Given the description of an element on the screen output the (x, y) to click on. 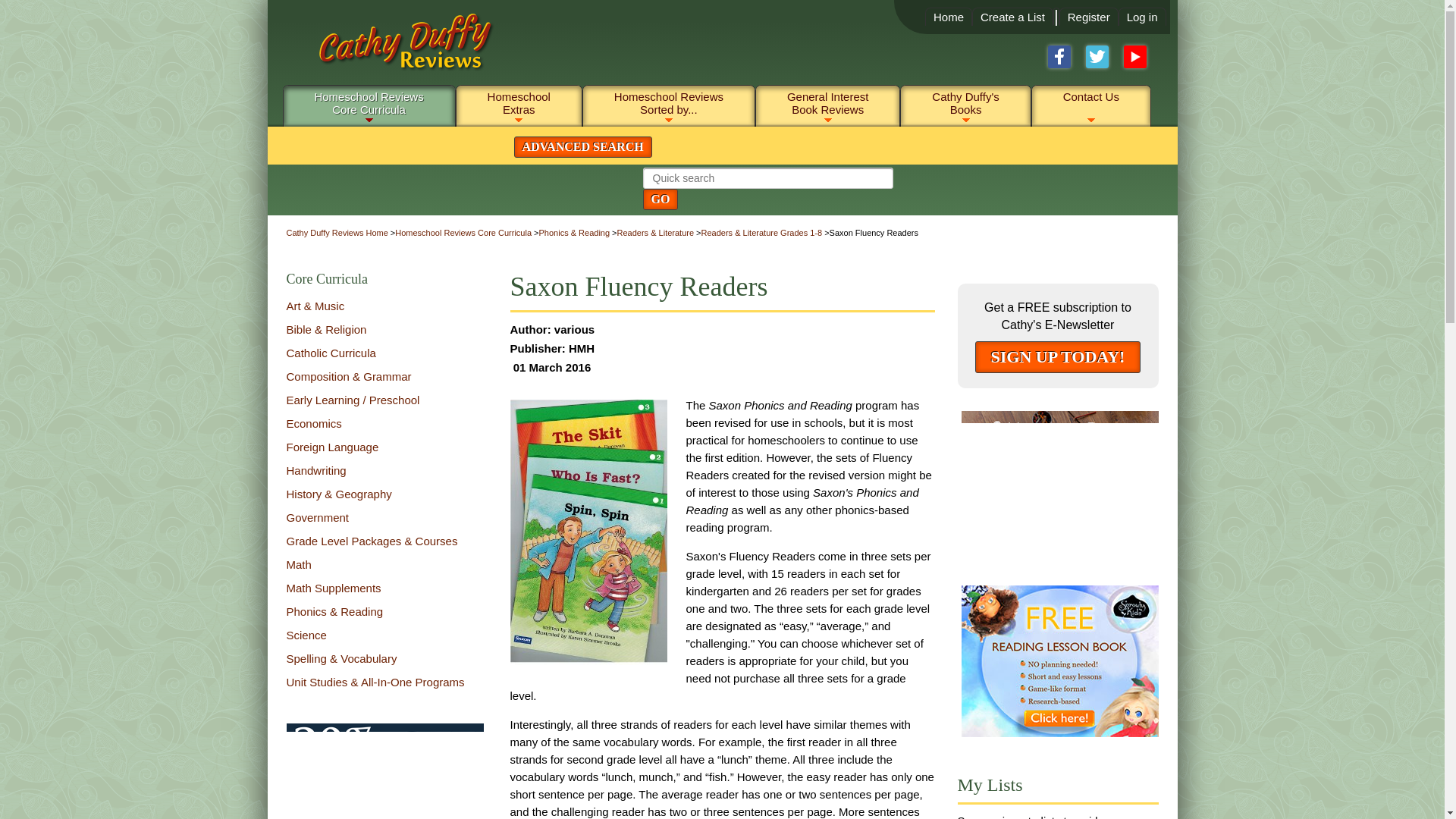
Create a List (1012, 16)
Published by  (601, 348)
Sprouty kids  (1059, 660)
YouTube (1135, 56)
Twitter (1097, 56)
Log in (1141, 16)
Memoria Press Phonics and Reading (1059, 486)
Written by  (601, 329)
Register (1088, 16)
Facebook (1059, 56)
Home (368, 101)
Cathy Duffy Homeschool Curriculum Reviews (948, 16)
My Fathers World (393, 48)
Sign Up today! (384, 797)
